Given the description of an element on the screen output the (x, y) to click on. 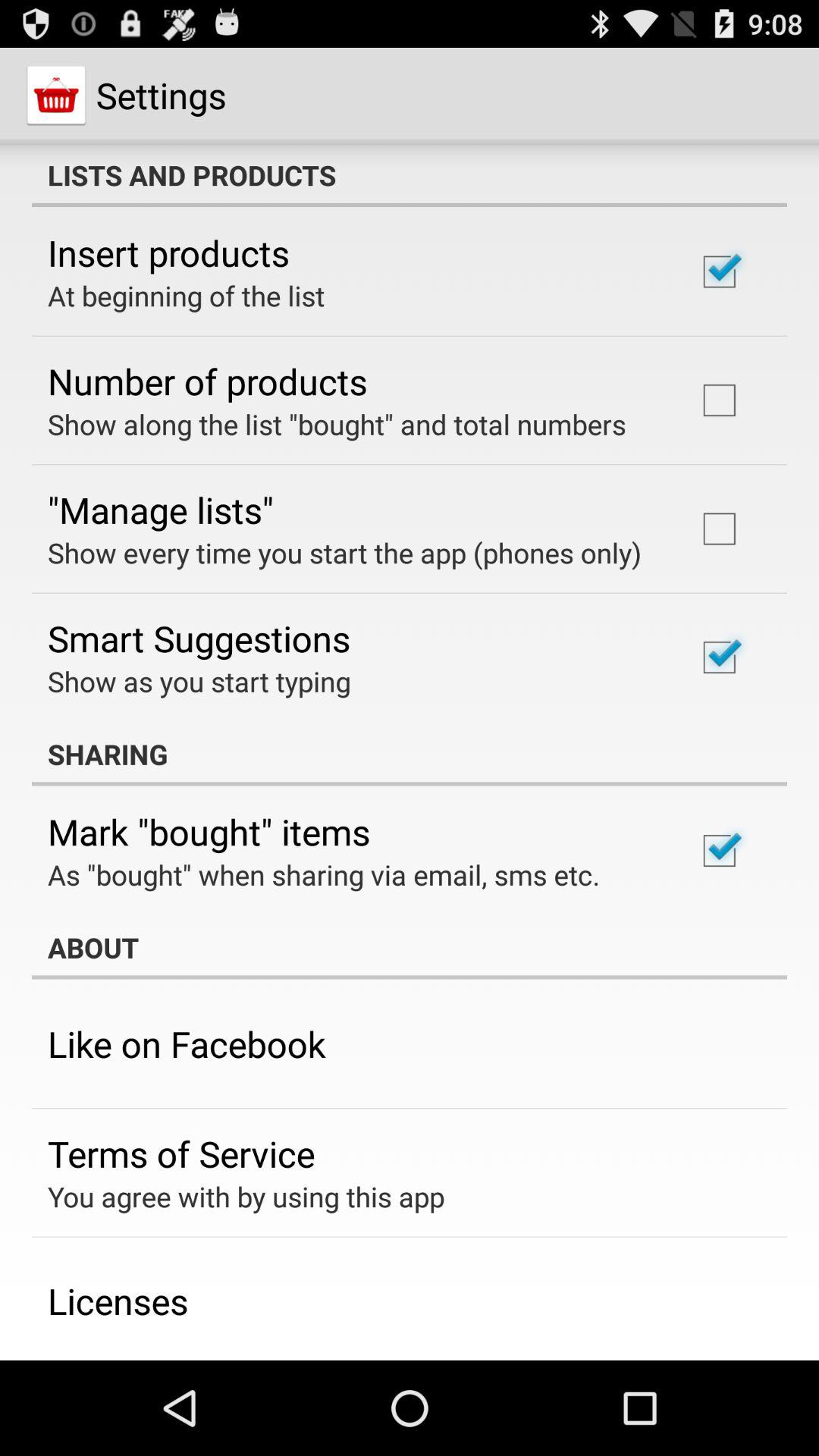
turn off icon above the number of products app (185, 295)
